Given the description of an element on the screen output the (x, y) to click on. 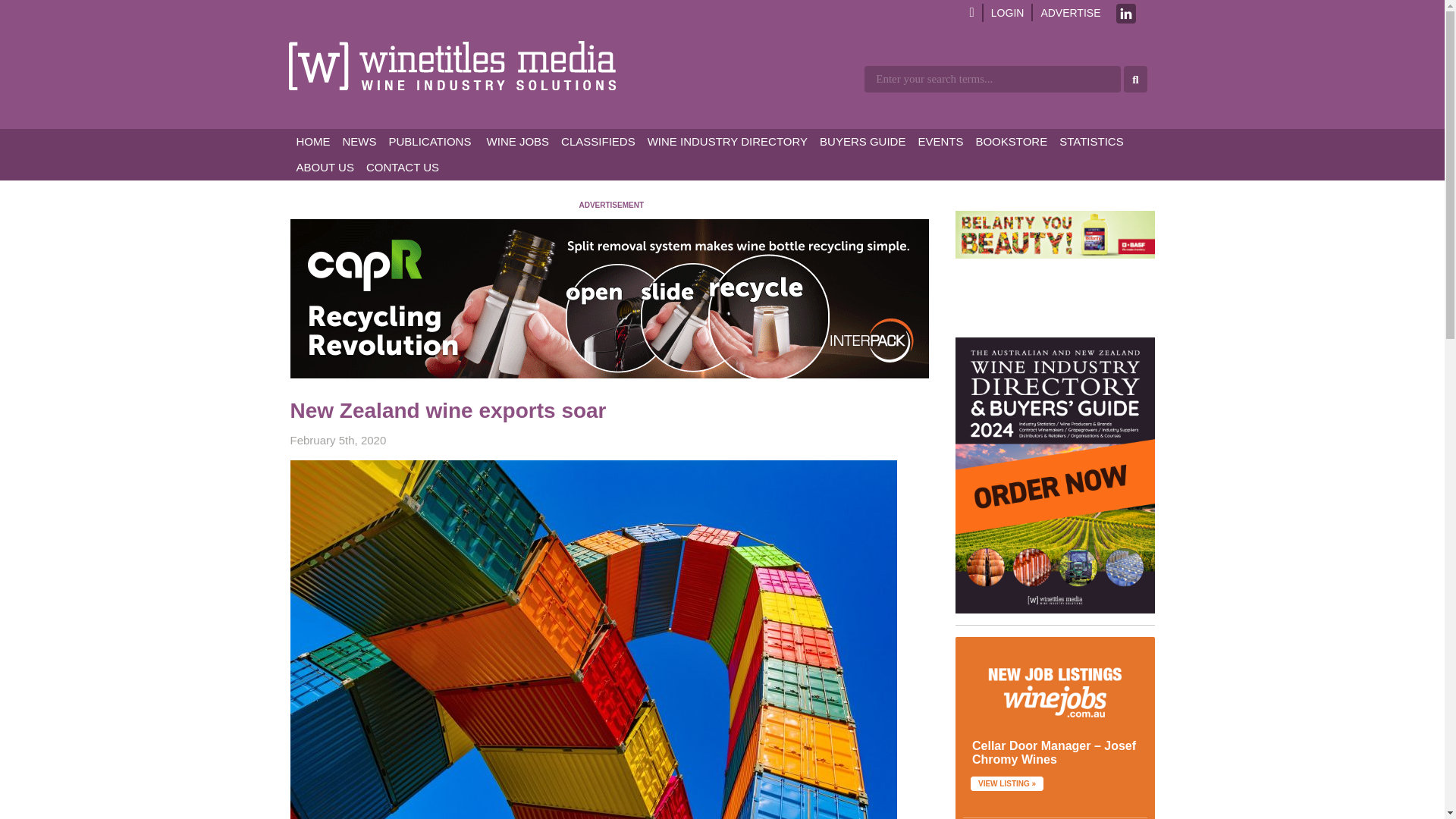
News (359, 141)
HOME (312, 141)
ADVERTISE (1070, 12)
Publications (429, 141)
PUBLICATIONS (429, 141)
 WINE JOBS (515, 141)
Home (312, 141)
EVENTS (940, 141)
WINE INDUSTRY DIRECTORY (727, 141)
Wine Industry Directory (727, 141)
